Given the description of an element on the screen output the (x, y) to click on. 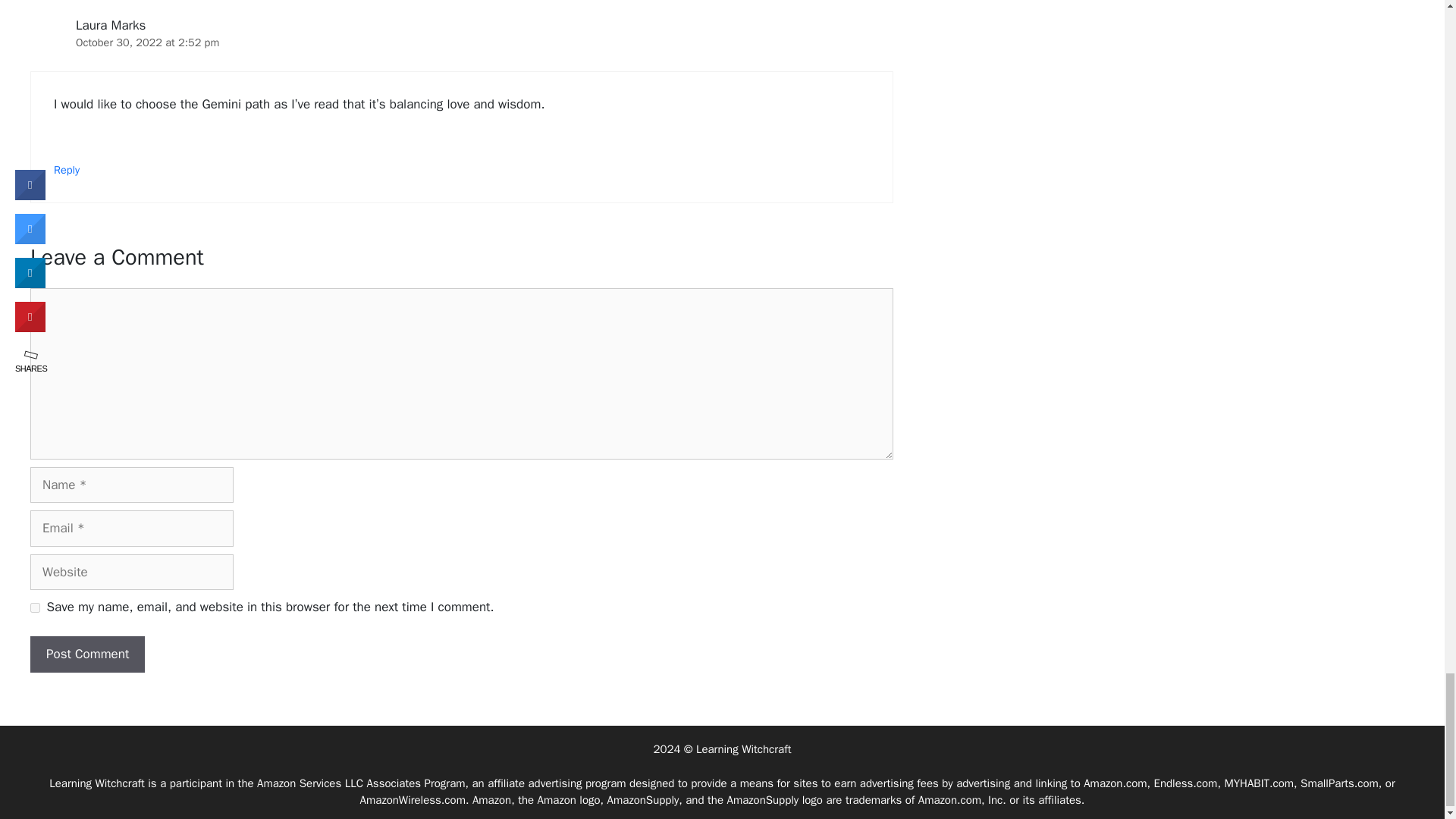
yes (35, 607)
Post Comment (87, 654)
